Given the description of an element on the screen output the (x, y) to click on. 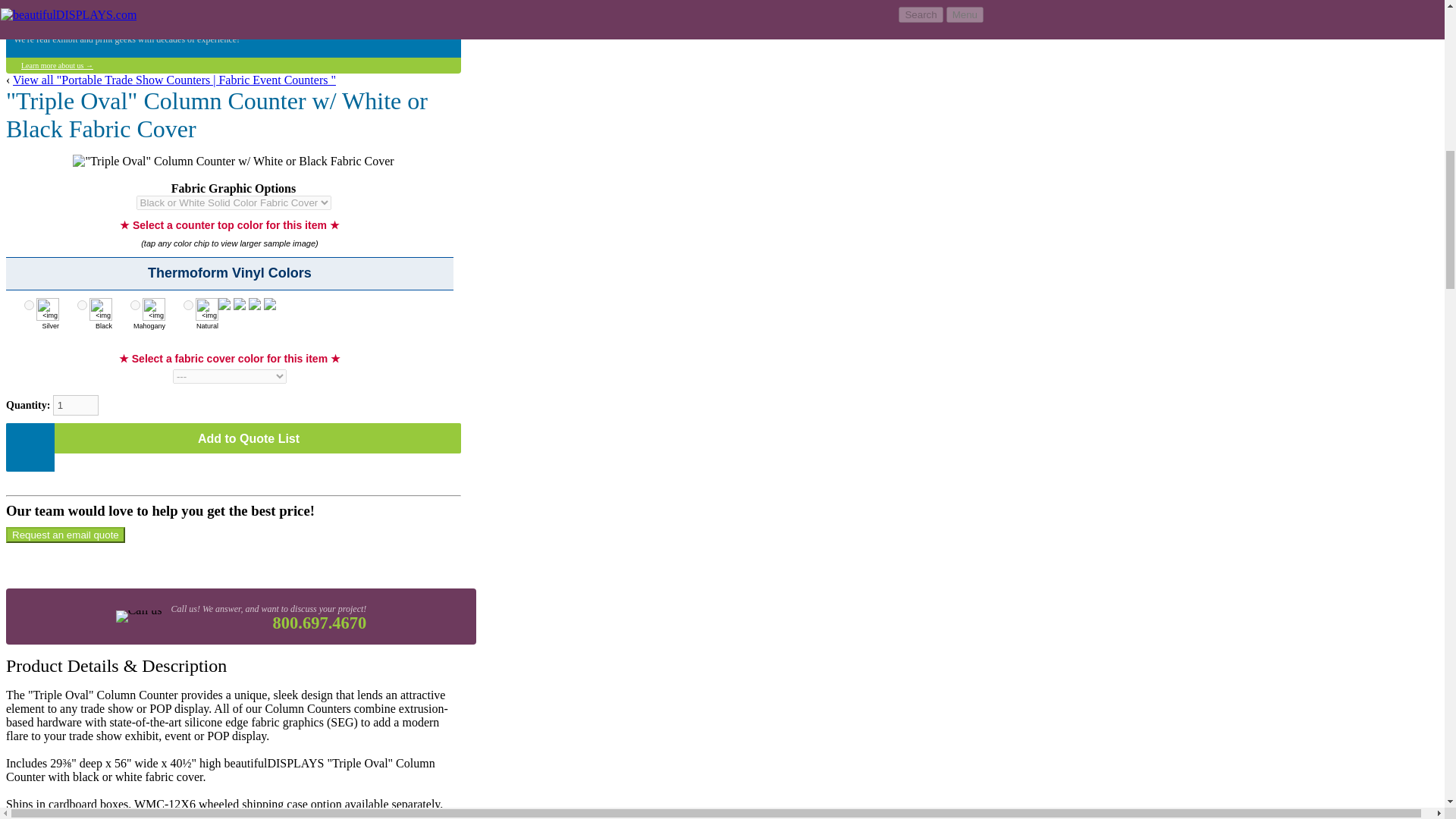
email quote request (65, 534)
Silver (28, 305)
Request an email quote (65, 534)
Call us (138, 616)
Mahogany (135, 305)
Black (82, 305)
Natural (188, 305)
add this item to your email quote request list (233, 438)
Add to Quote List (233, 438)
1 (75, 404)
